Given the description of an element on the screen output the (x, y) to click on. 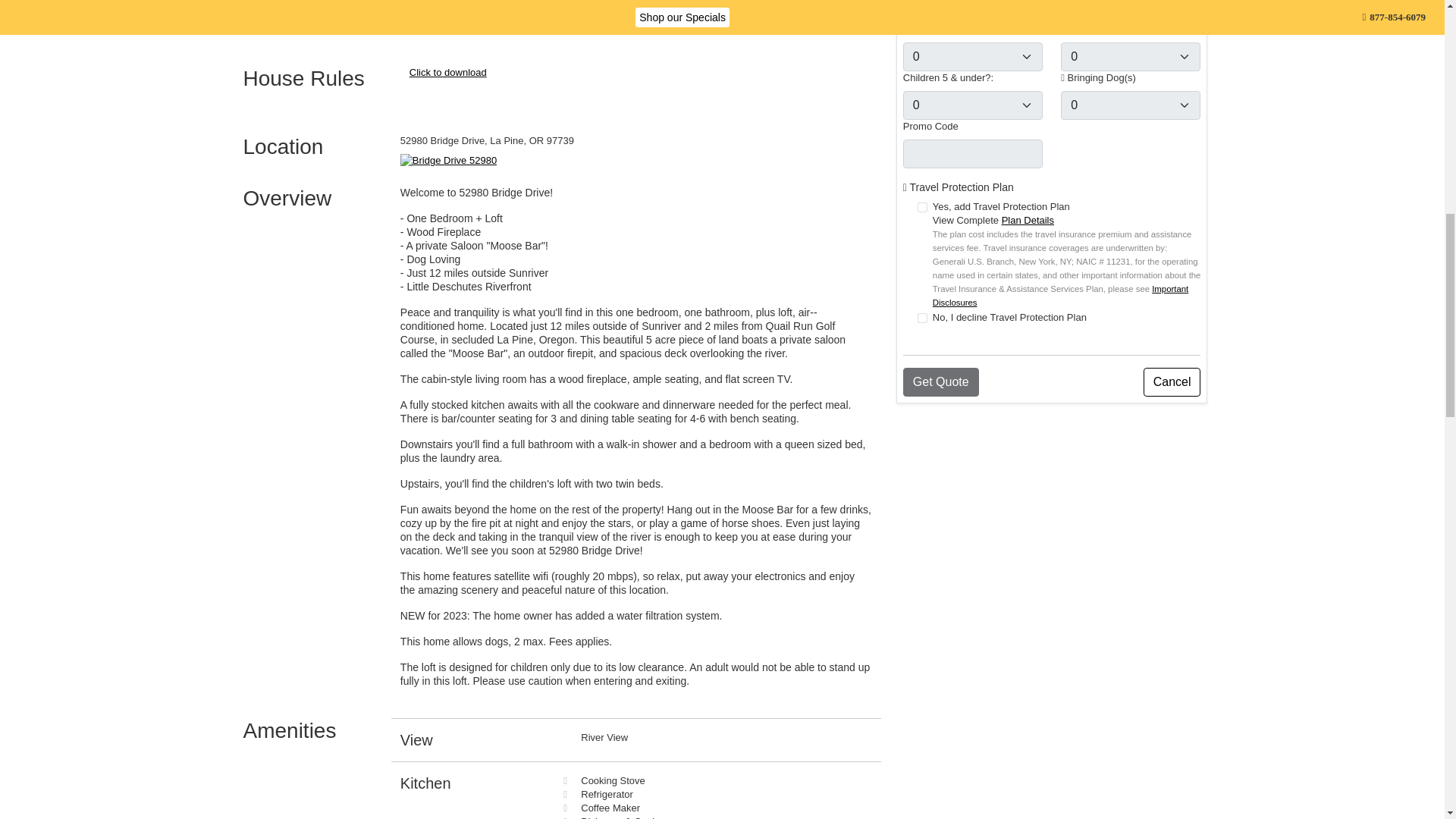
Click to download (447, 71)
Get Quote (940, 381)
1 (922, 207)
1 (922, 317)
